Given the description of an element on the screen output the (x, y) to click on. 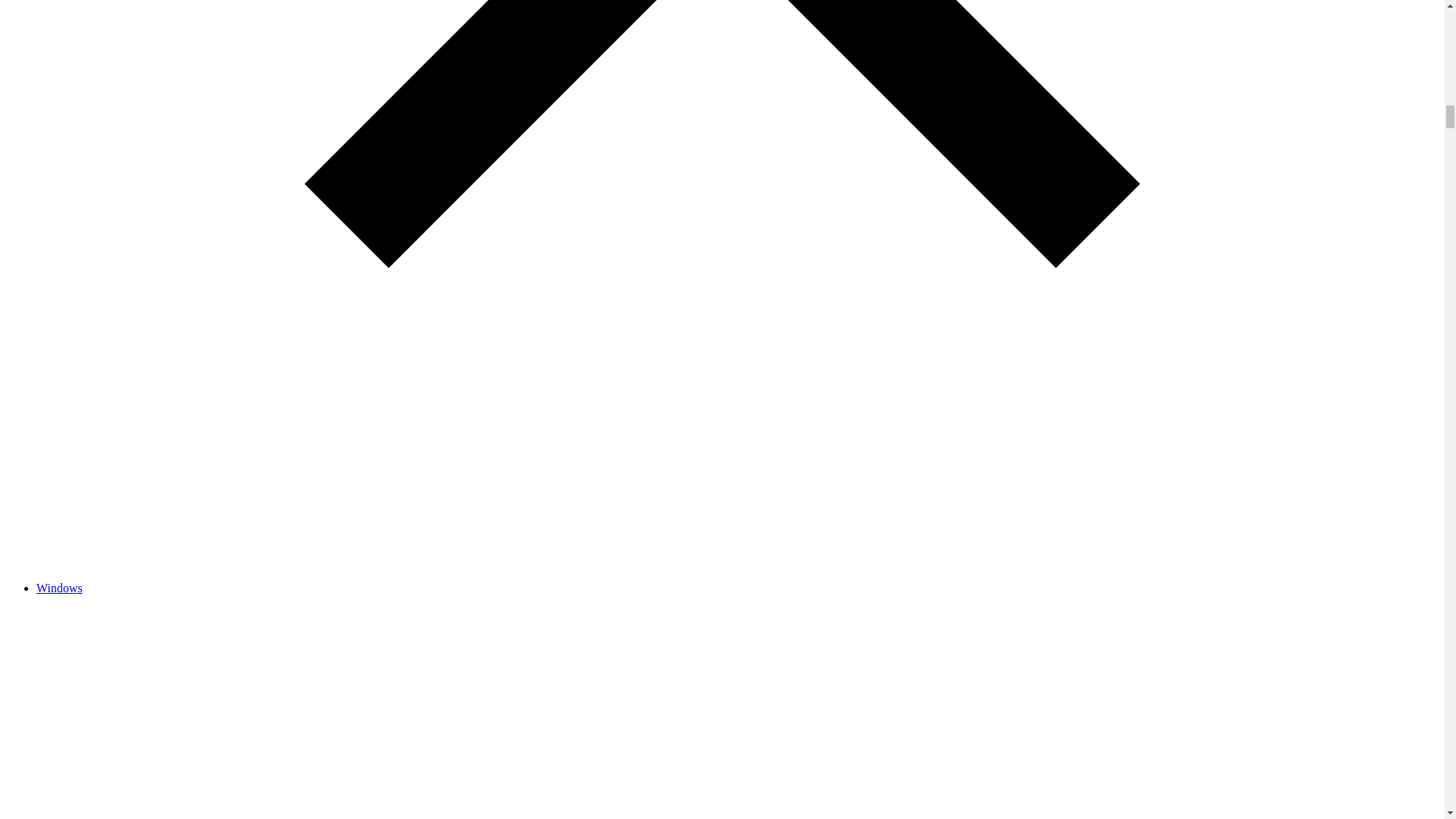
Windows (59, 587)
